Given the description of an element on the screen output the (x, y) to click on. 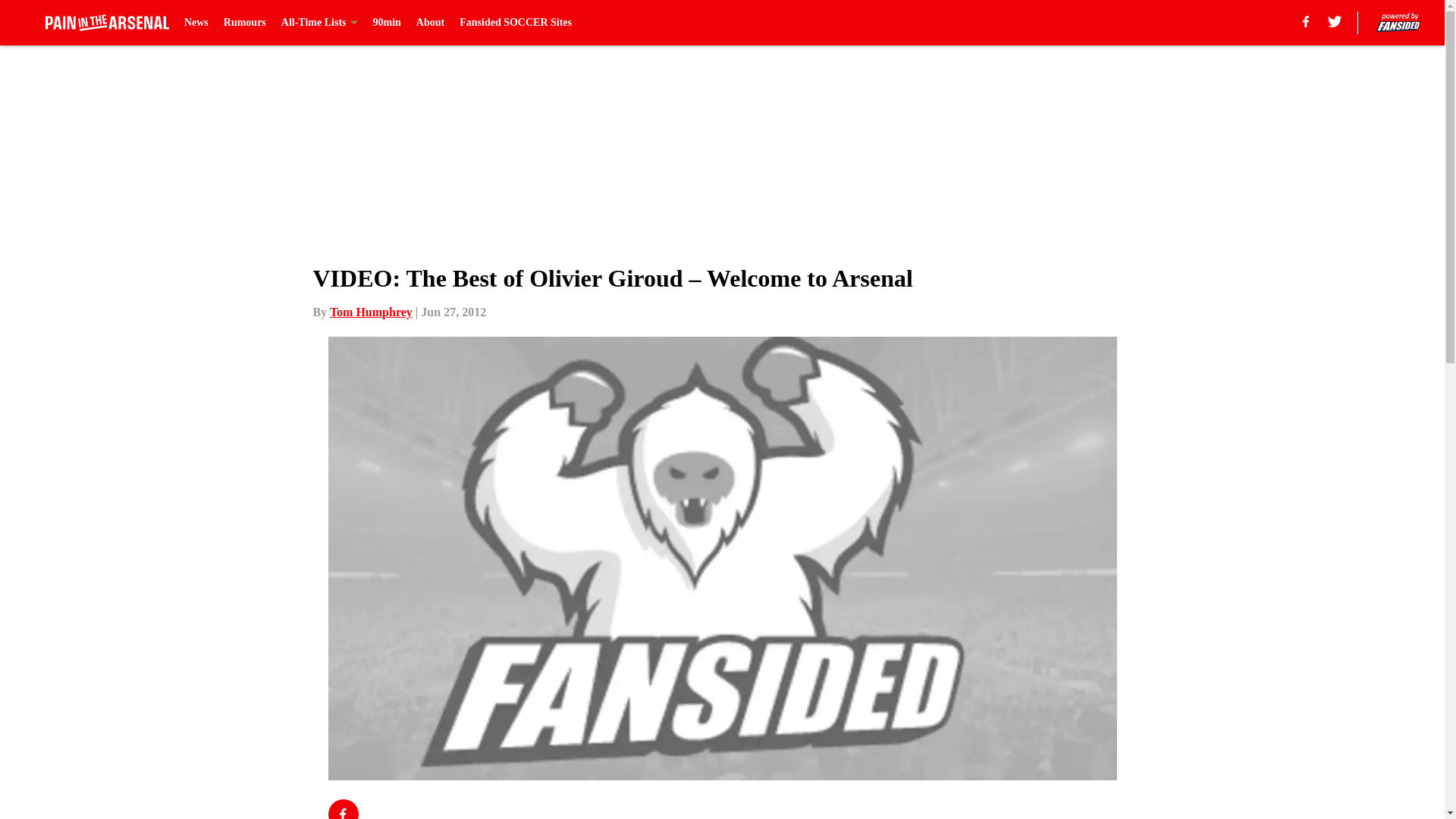
90min (386, 22)
News (196, 22)
Fansided SOCCER Sites (516, 22)
Rumours (245, 22)
Tom Humphrey (371, 311)
About (430, 22)
